Given the description of an element on the screen output the (x, y) to click on. 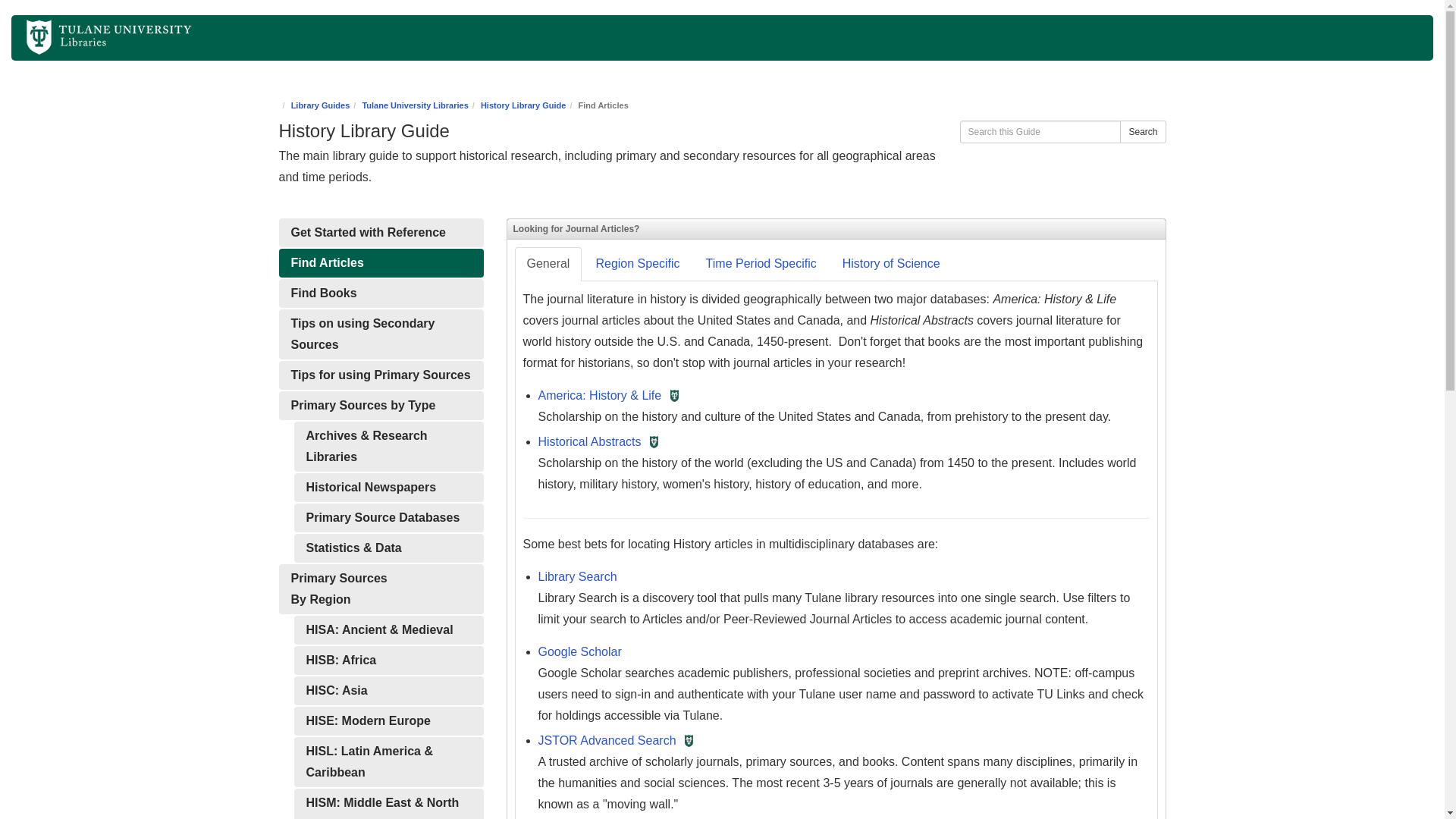
HISC: Asia (388, 690)
History Library Guide (523, 104)
Get Started with Reference (381, 232)
Tips for using Primary Sources (381, 375)
HISB: Africa (388, 660)
Locate sources specific to geographical regions. (381, 589)
Historical Newspapers (388, 487)
Tulane University Libraries (414, 104)
Library Guides (320, 104)
Primary Source Databases (388, 517)
Home (87, 34)
Tips on using Secondary Sources (381, 334)
Search (1142, 131)
